Given the description of an element on the screen output the (x, y) to click on. 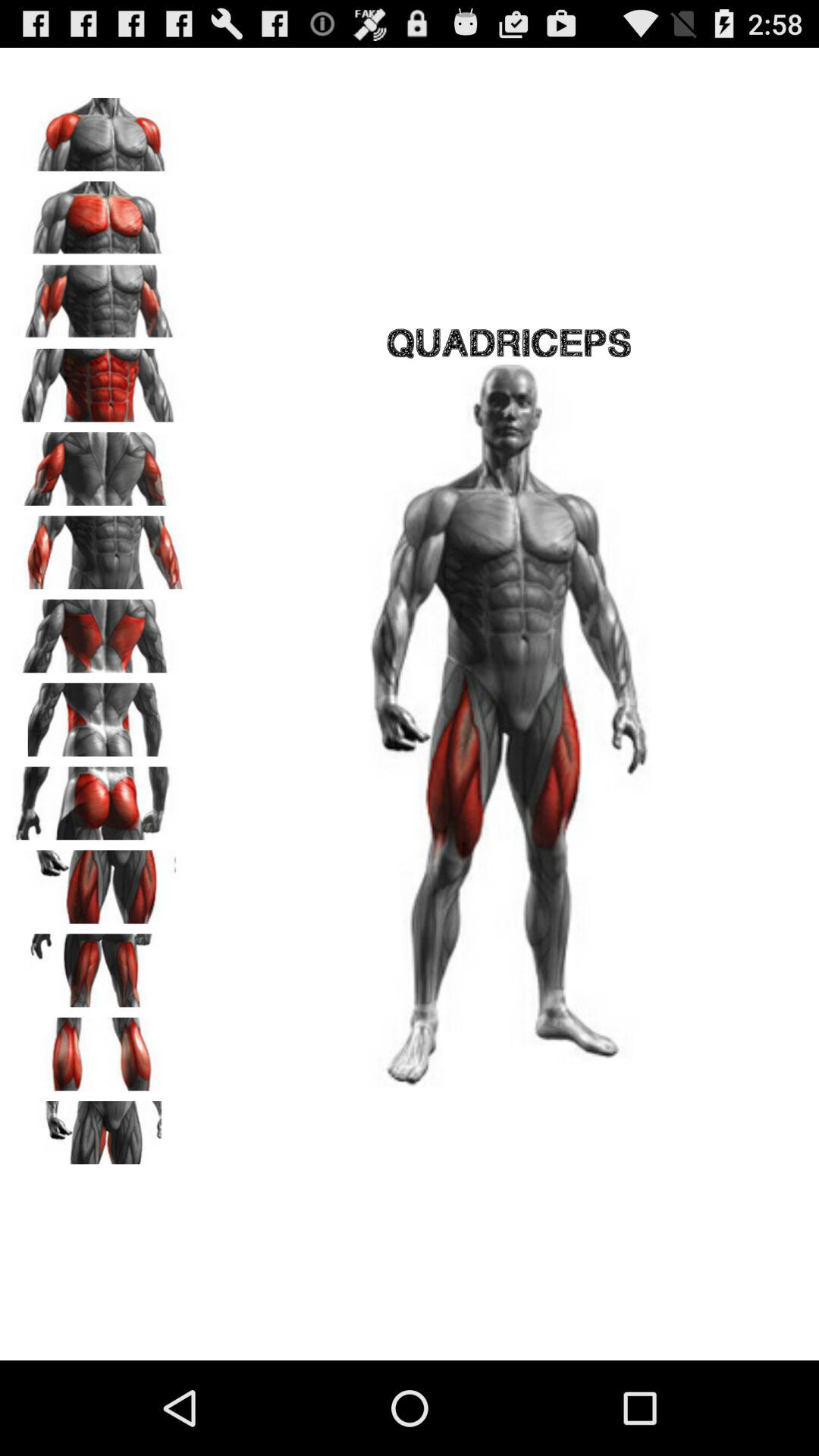
selecting one part of legs (99, 1132)
